Given the description of an element on the screen output the (x, y) to click on. 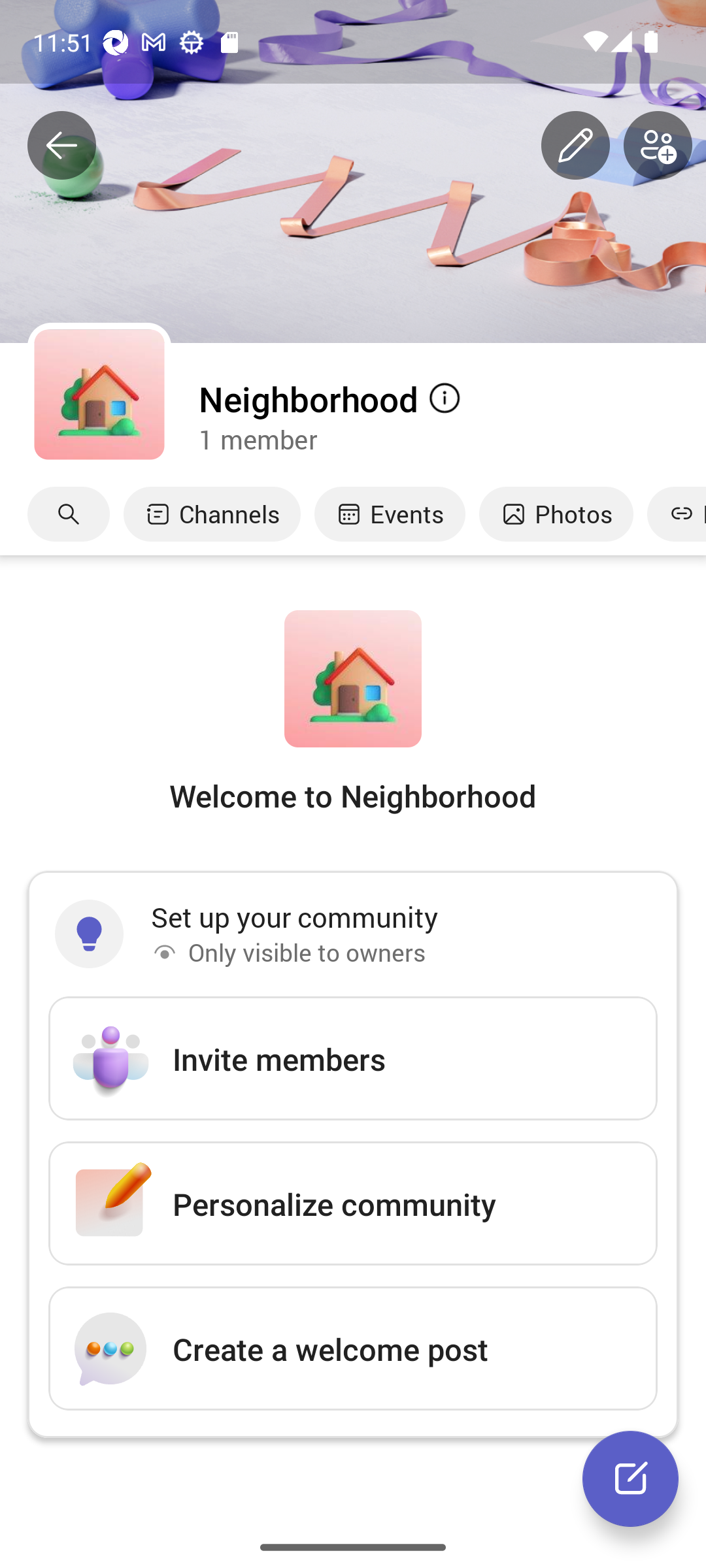
Back (61, 145)
Edit banner image (575, 145)
Add members (657, 145)
Neighborhood 1 member (450, 416)
Search tab, 1 of 6 (68, 513)
Channels tab, 2 of 6 Channels (211, 513)
Events tab, 3 of 6 Events (389, 513)
Photos tab, 4 of 6 Photos (556, 513)
Invite members (352, 1058)
Personalize community (352, 1203)
Create a welcome post (352, 1348)
New conversation (630, 1478)
